Given the description of an element on the screen output the (x, y) to click on. 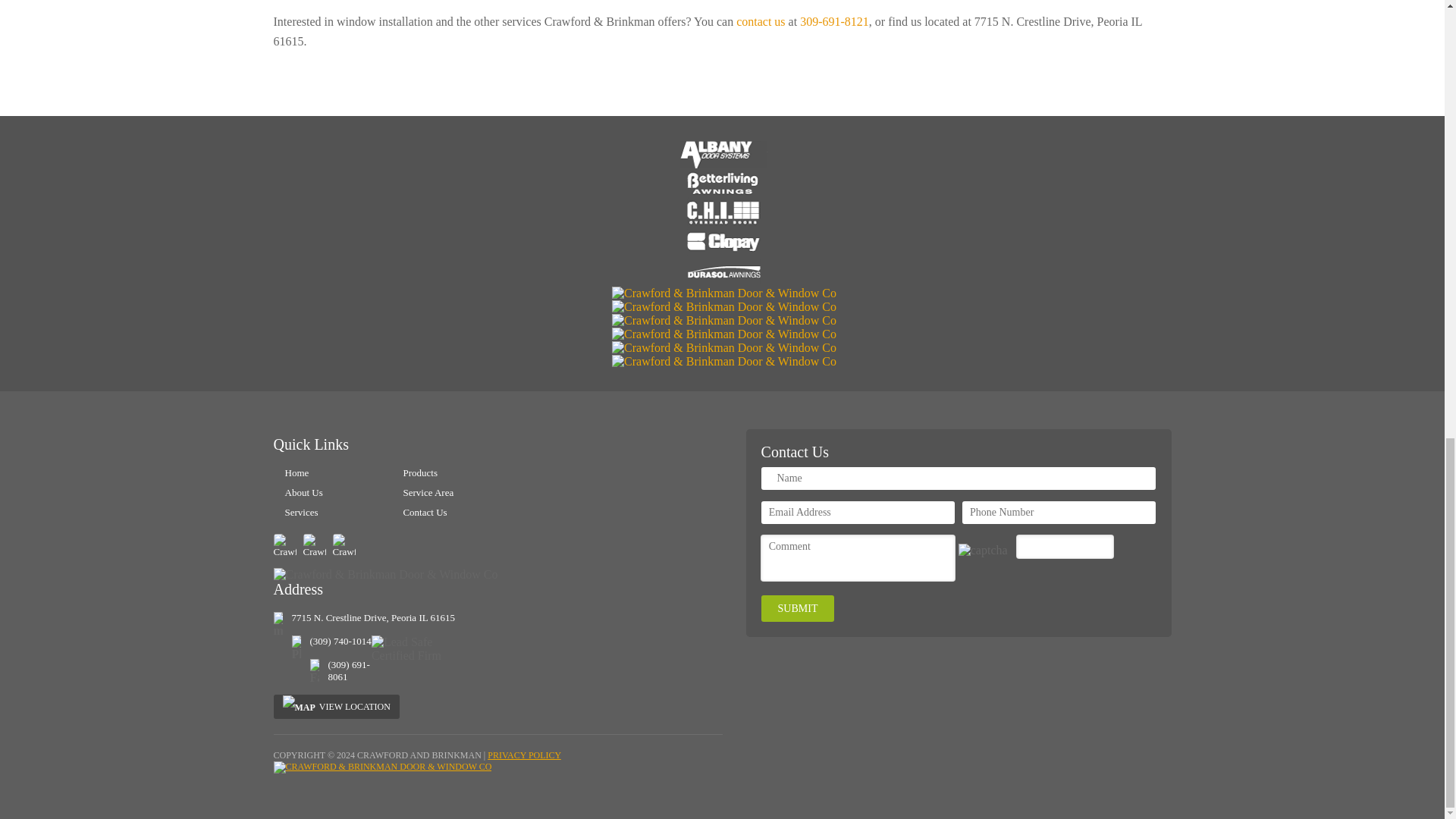
Submit (797, 608)
